Given the description of an element on the screen output the (x, y) to click on. 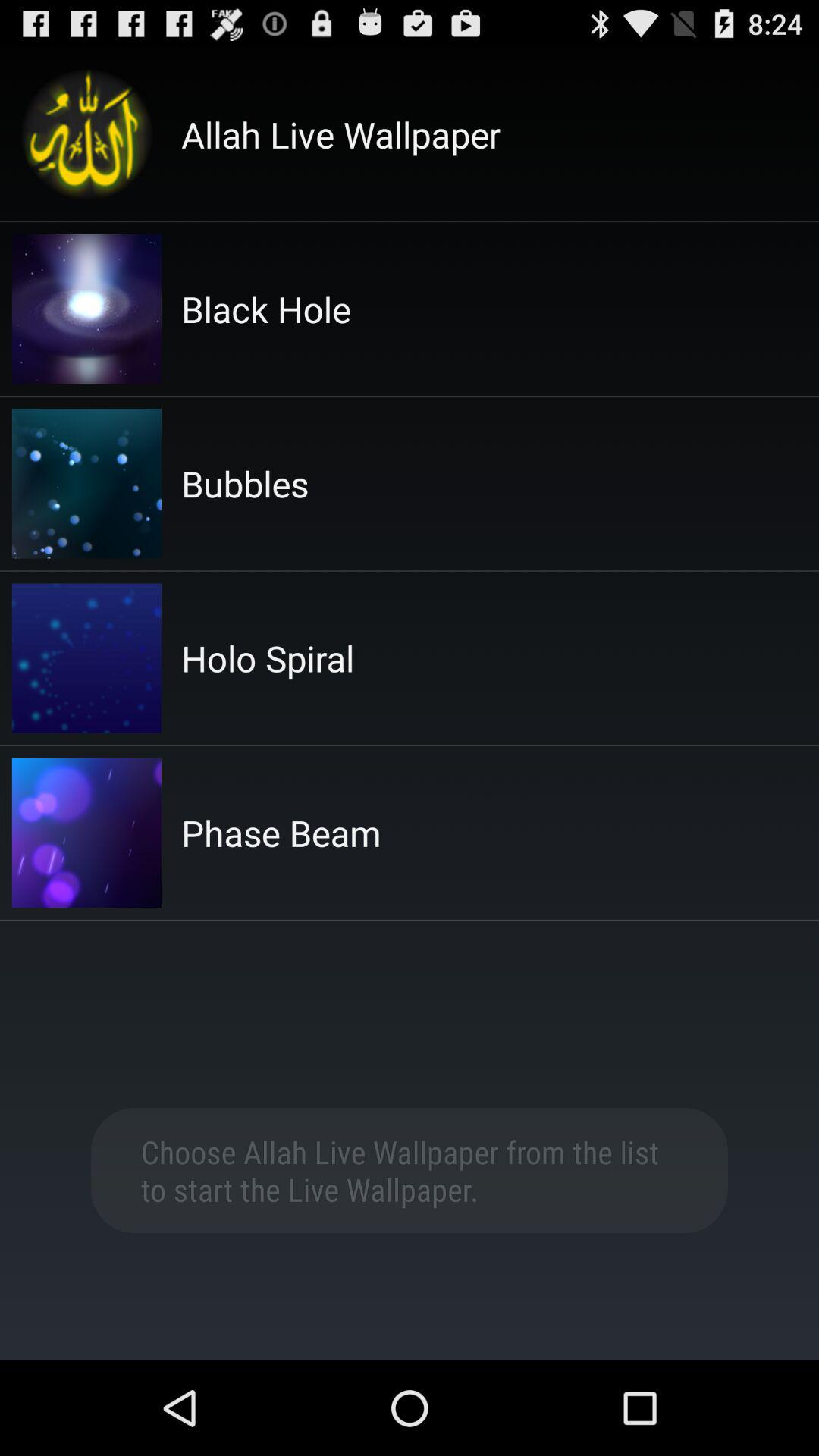
swipe until the bubbles app (244, 483)
